Given the description of an element on the screen output the (x, y) to click on. 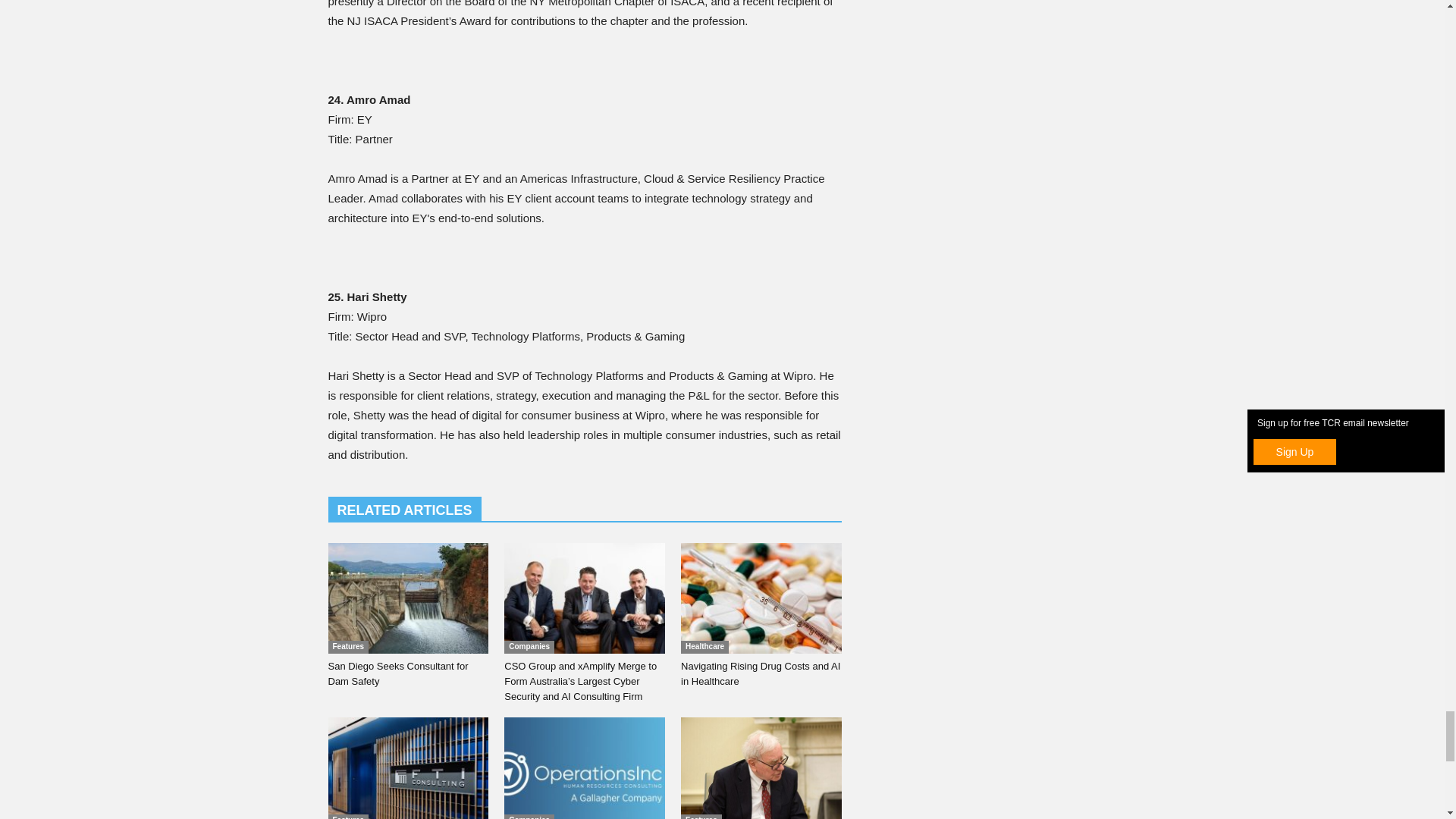
San Diego Seeks Consultant for Dam Safety (397, 673)
San Diego Seeks Consultant for Dam Safety (407, 597)
Navigating Rising Drug Costs and AI in Healthcare (761, 597)
Navigating Rising Drug Costs and AI in Healthcare (760, 673)
